Given the description of an element on the screen output the (x, y) to click on. 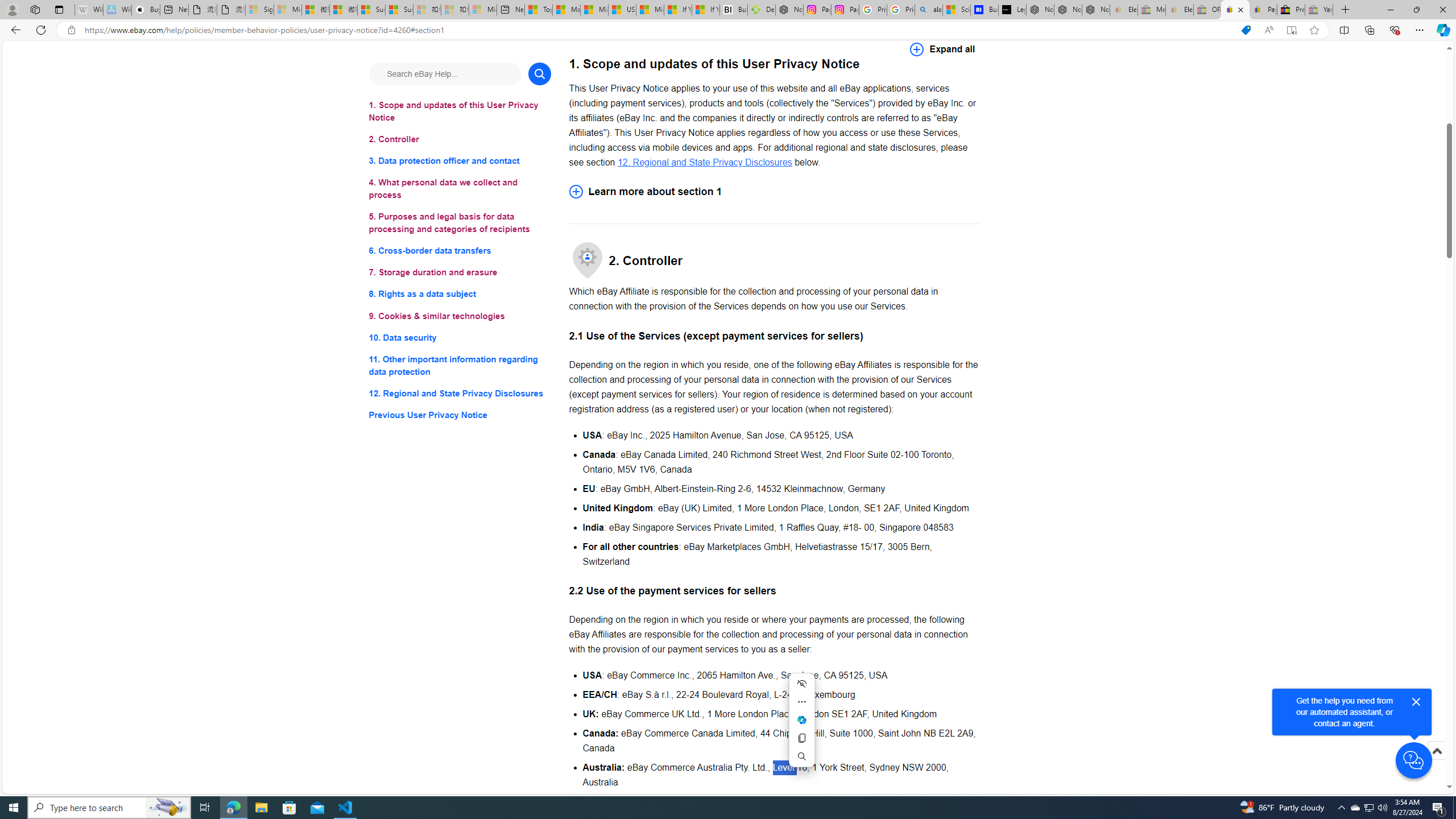
alabama high school quarterback dies - Search (928, 9)
Sign in to your Microsoft account - Sleeping (259, 9)
12. Regional and State Privacy Disclosures (704, 162)
Microsoft account | Account Checkup - Sleeping (483, 9)
10. Data security (459, 336)
Ask Copilot (801, 719)
